Given the description of an element on the screen output the (x, y) to click on. 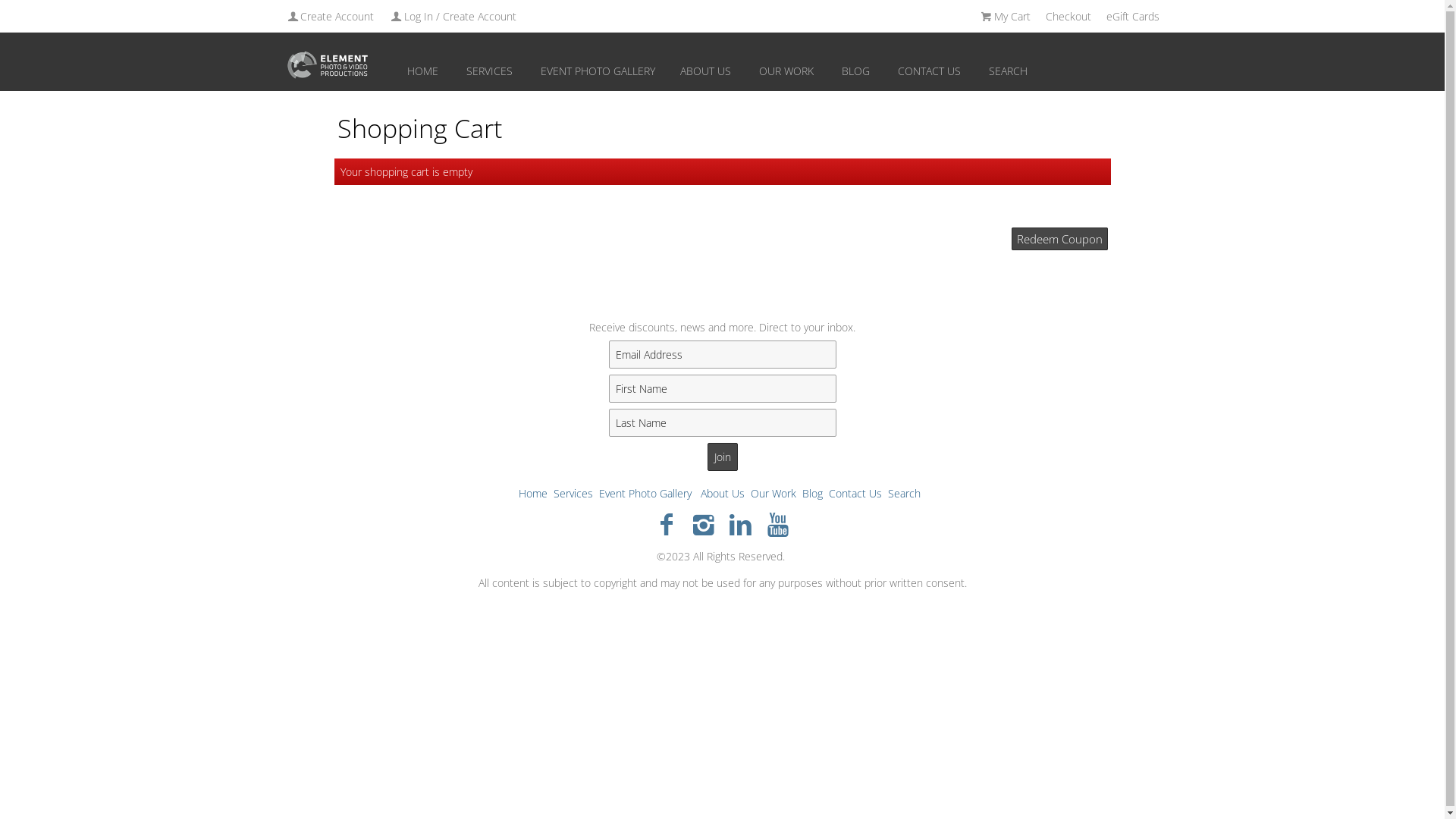
Event Photo Gallery Element type: text (645, 493)
LinkedIn Element type: hover (740, 523)
Services Element type: text (573, 493)
Our Work Element type: text (773, 493)
Contact Us Element type: text (854, 493)
Checkout Element type: text (1067, 16)
Log In / Create Account Element type: text (452, 16)
Home Element type: text (532, 493)
Instagram Element type: hover (704, 523)
YouTube Element type: hover (777, 523)
SEARCH Element type: text (1008, 70)
Blog Element type: text (812, 493)
About Us Element type: text (722, 493)
EVENT PHOTO GALLERY Element type: text (597, 70)
BLOG Element type: text (855, 70)
HOME Element type: text (422, 70)
Facebook Element type: hover (666, 523)
ABOUT US Element type: text (705, 70)
Create Account Element type: text (329, 16)
My Cart Element type: text (1006, 16)
OUR WORK Element type: text (785, 70)
eGift Cards Element type: text (1131, 16)
Redeem Coupon Element type: text (1059, 238)
Search Element type: text (903, 493)
CONTACT US Element type: text (929, 70)
SERVICES Element type: text (488, 70)
Join Element type: text (721, 456)
